Given the description of an element on the screen output the (x, y) to click on. 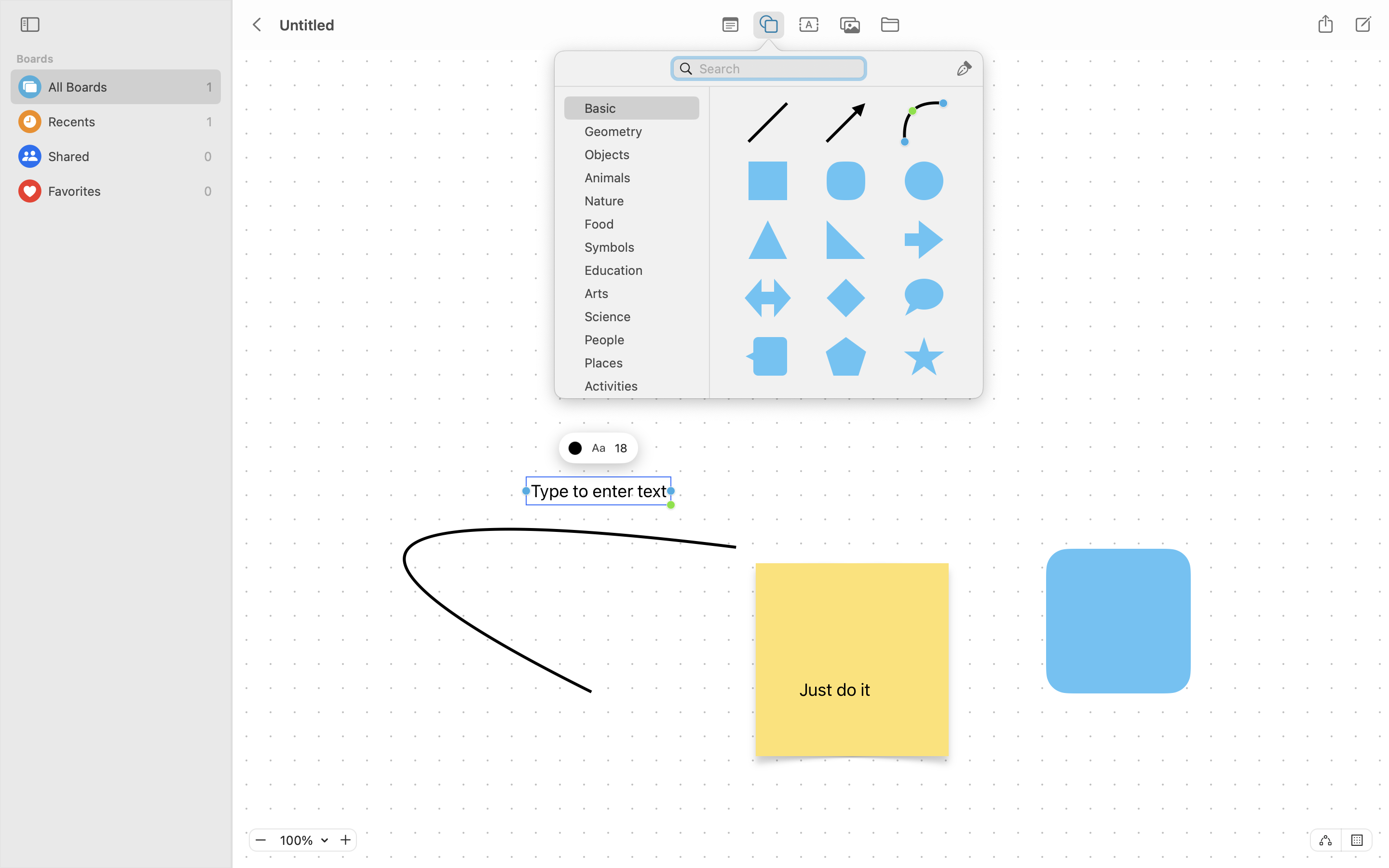
Ornaments Element type: AXStaticText (636, 458)
Symbols Element type: AXStaticText (636, 250)
Places Element type: AXStaticText (636, 366)
Animals Element type: AXStaticText (636, 180)
